Given the description of an element on the screen output the (x, y) to click on. 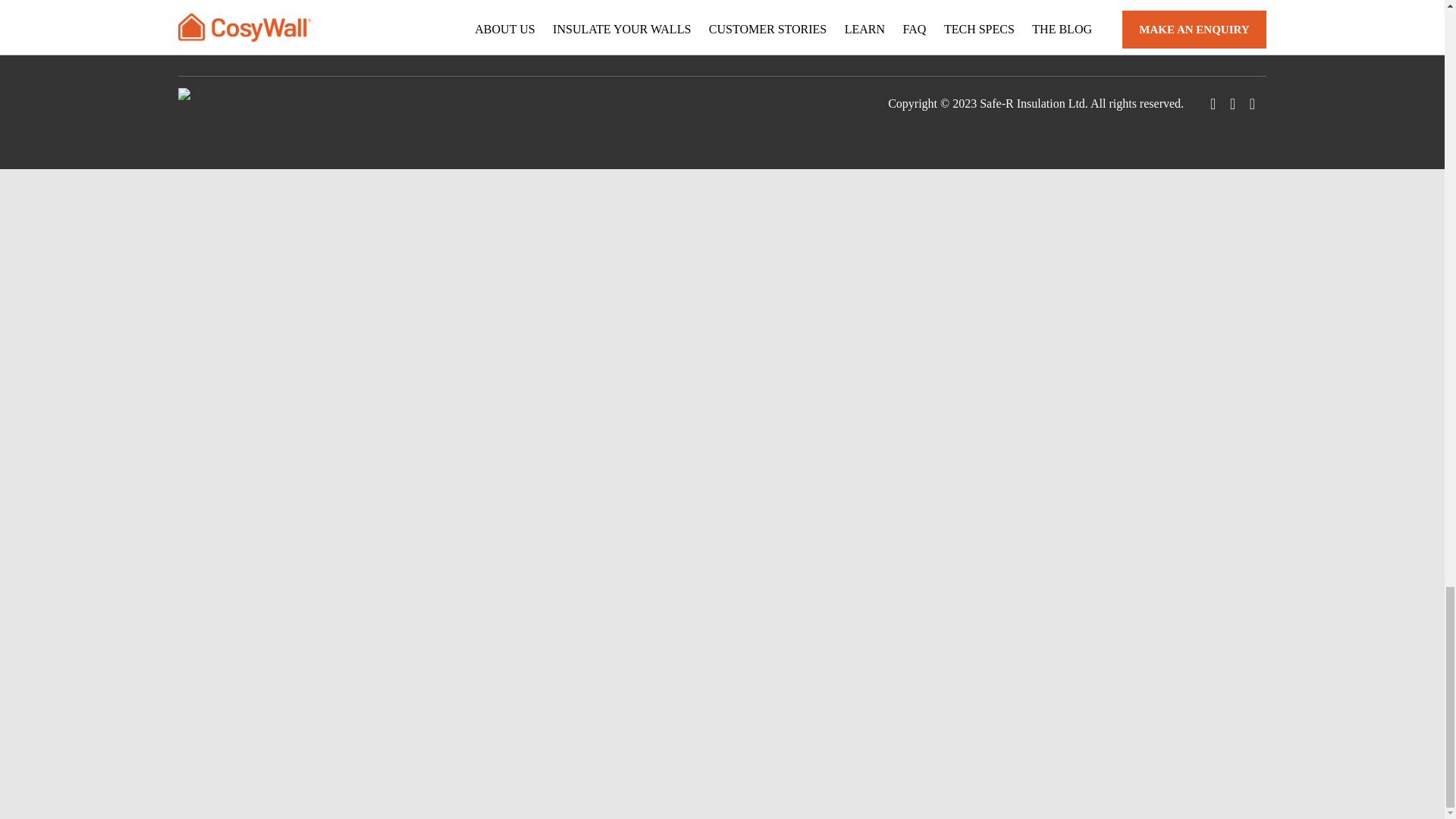
All Questions (387, 7)
